Given the description of an element on the screen output the (x, y) to click on. 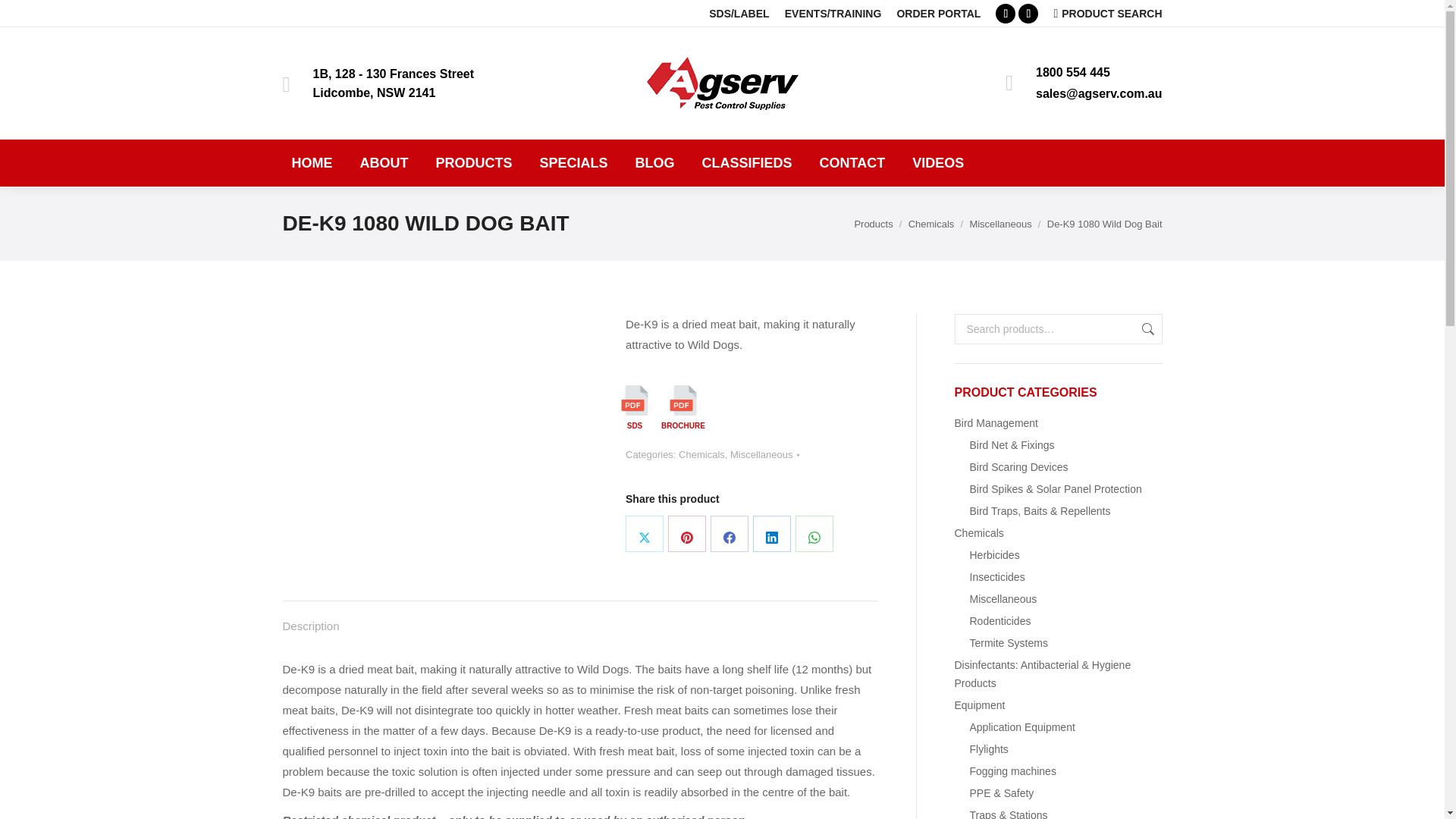
Facebook page opens in new window (1004, 13)
CONTACT (852, 162)
Go! (26, 17)
Lidcombe, NSW 2141 (374, 92)
Miscellaneous (999, 224)
brochure (683, 399)
PRODUCTS (473, 162)
ORDER PORTAL (937, 13)
X page opens in new window (1027, 13)
1800 554 445 (1072, 72)
X page opens in new window (1027, 13)
X (644, 533)
HOME (311, 162)
CLASSIFIEDS (747, 162)
PRODUCT SEARCH (1106, 13)
